Given the description of an element on the screen output the (x, y) to click on. 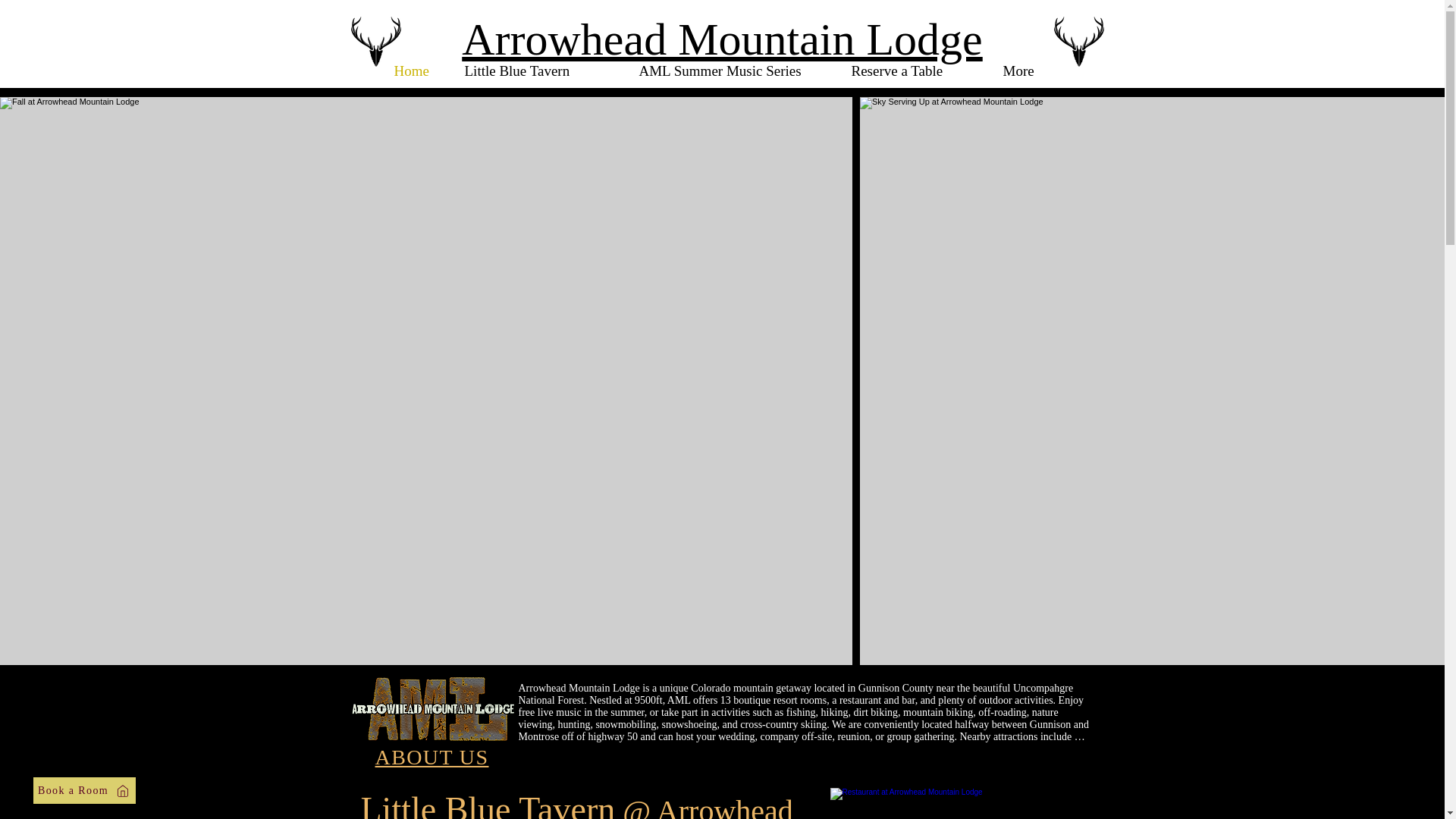
Home (416, 70)
ABOUT US (432, 757)
AML Summer Music Series (733, 70)
Little Blue Tavern (539, 70)
Arrowhead Mountain Lodge (721, 39)
Reserve a Table (915, 70)
